Given the description of an element on the screen output the (x, y) to click on. 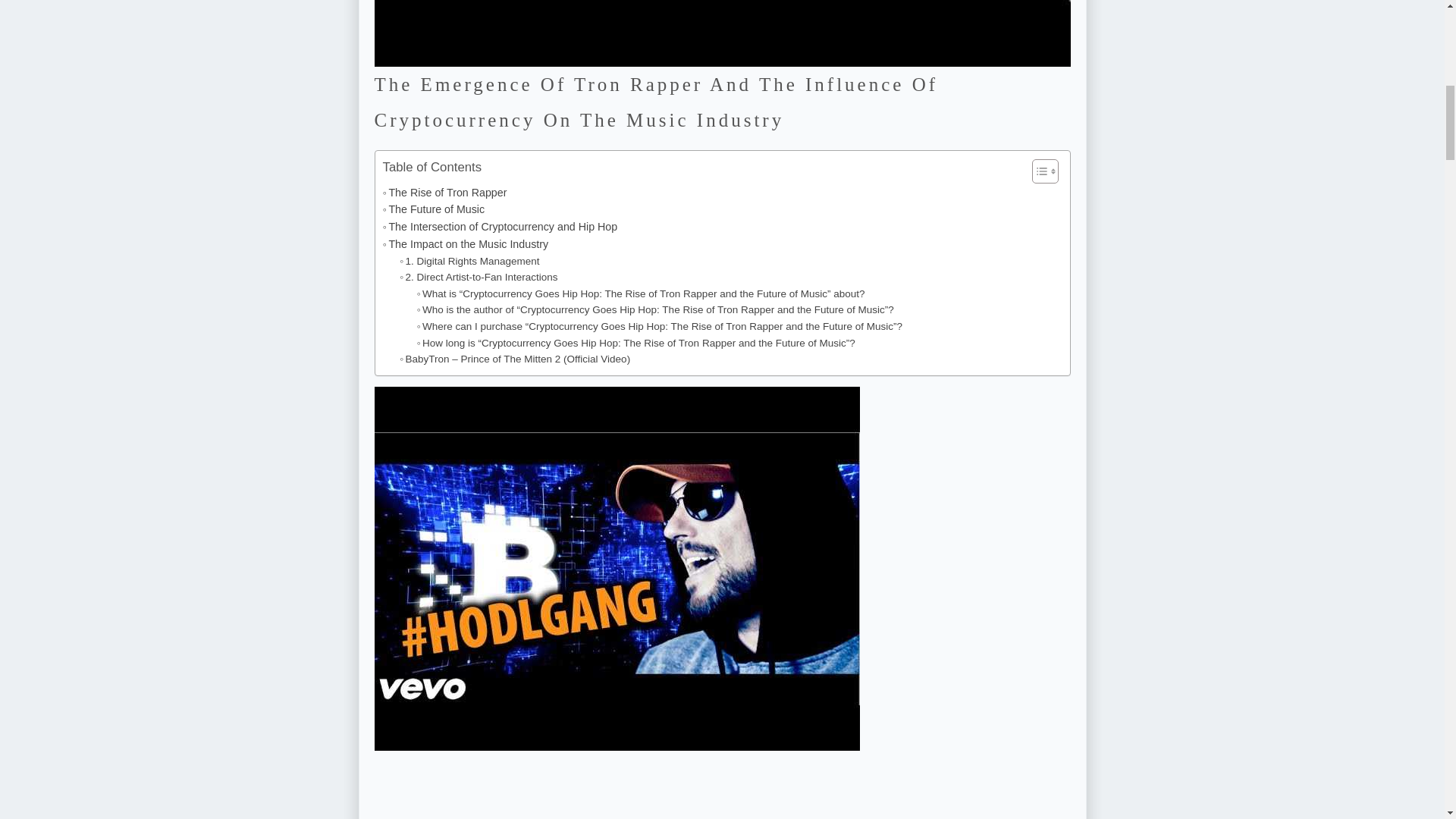
2. Direct Artist-to-Fan Interactions (477, 277)
2. Direct Artist-to-Fan Interactions (477, 277)
The Intersection of Cryptocurrency and Hip Hop (499, 226)
The Future of Music (432, 209)
The Rise of Tron Rapper (443, 191)
The Intersection of Cryptocurrency and Hip Hop (499, 226)
The Impact on the Music Industry (464, 244)
1. Digital Rights Management (469, 261)
1. Digital Rights Management (469, 261)
The Rise of Tron Rapper (443, 191)
The Future of Music (432, 209)
The Impact on the Music Industry (464, 244)
